Given the description of an element on the screen output the (x, y) to click on. 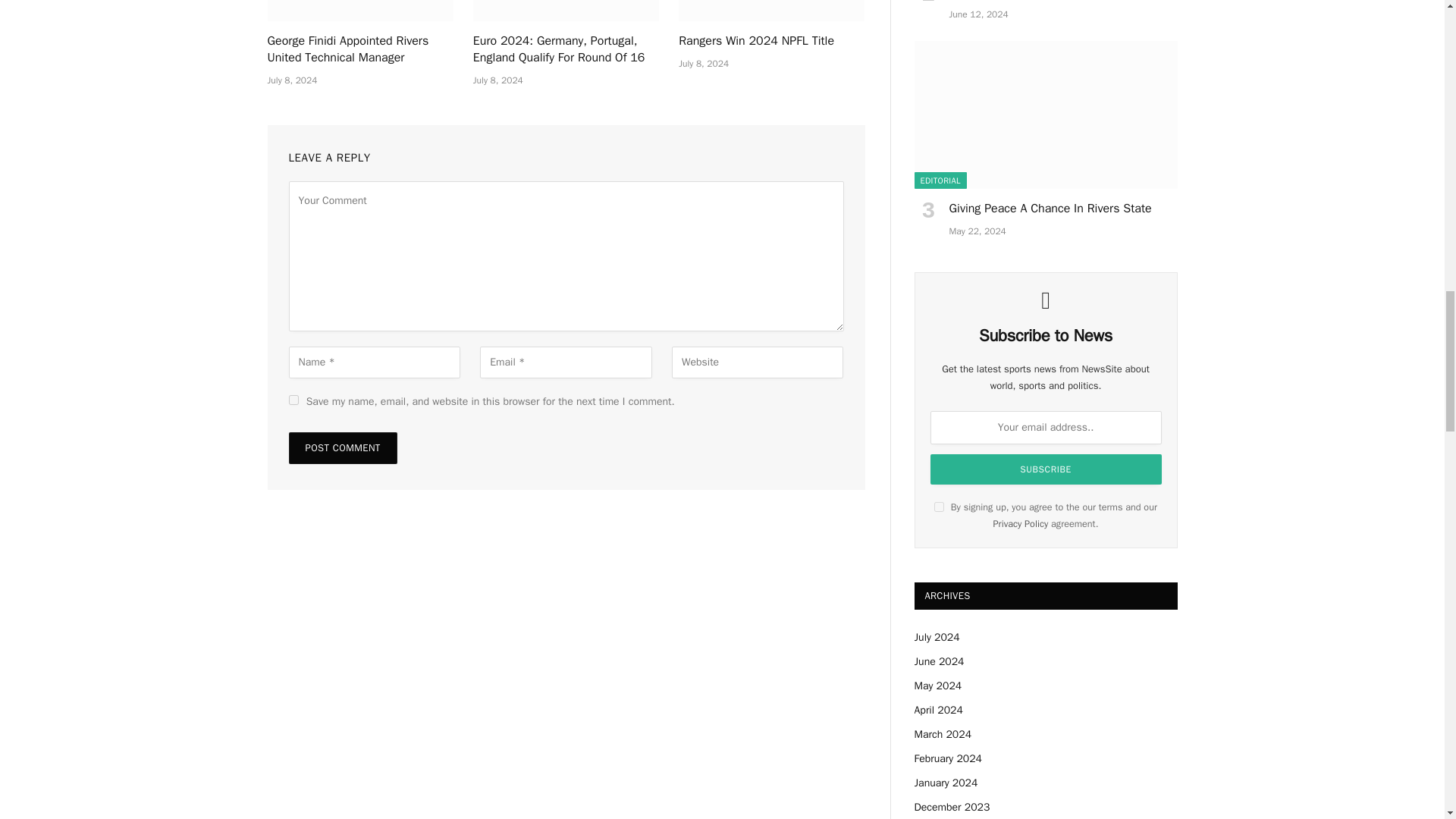
Post Comment (342, 448)
on (938, 506)
Subscribe (1045, 469)
yes (293, 399)
